Given the description of an element on the screen output the (x, y) to click on. 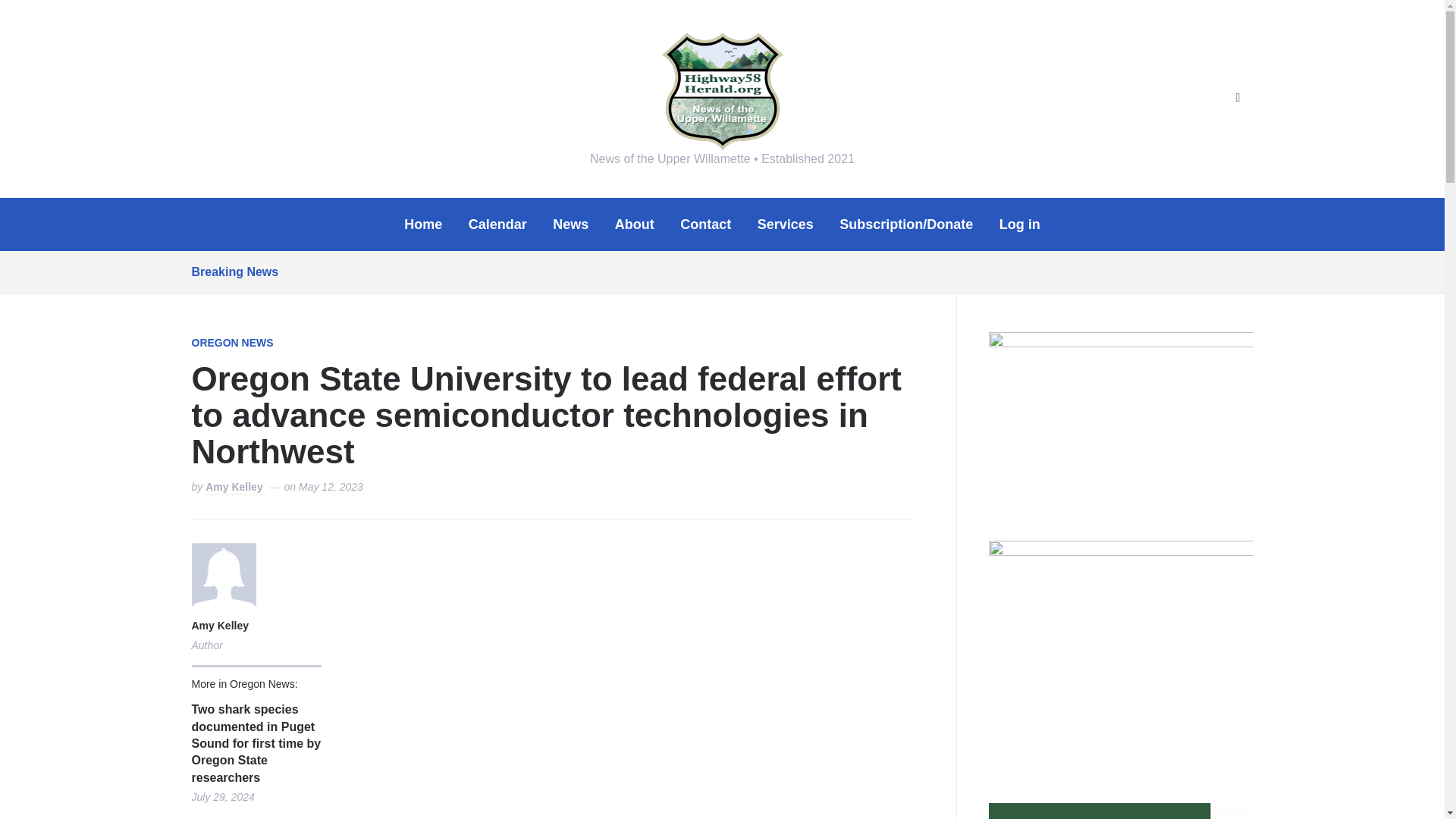
Search (1237, 98)
